Given the description of an element on the screen output the (x, y) to click on. 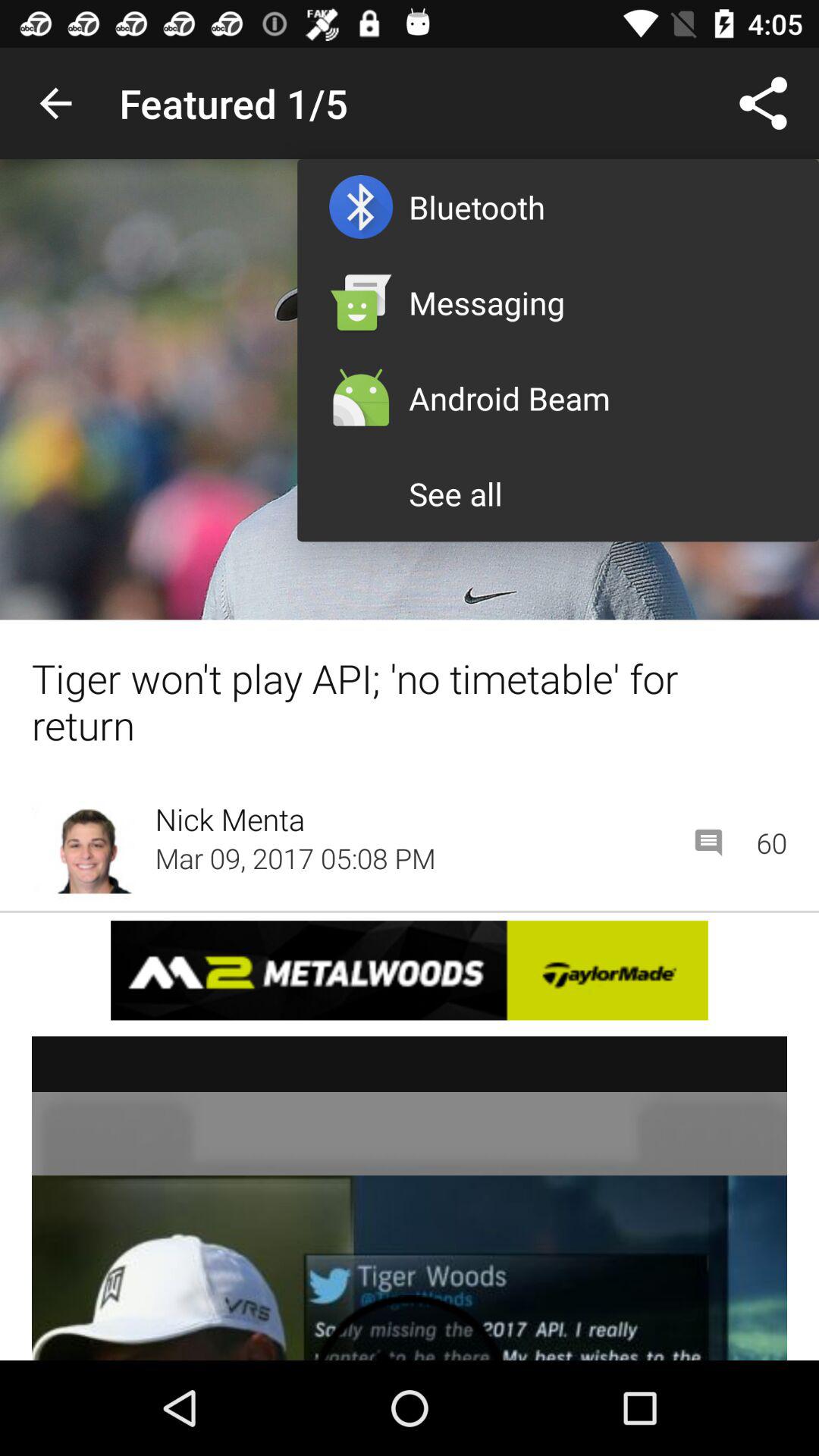
advertisement (409, 970)
